Given the description of an element on the screen output the (x, y) to click on. 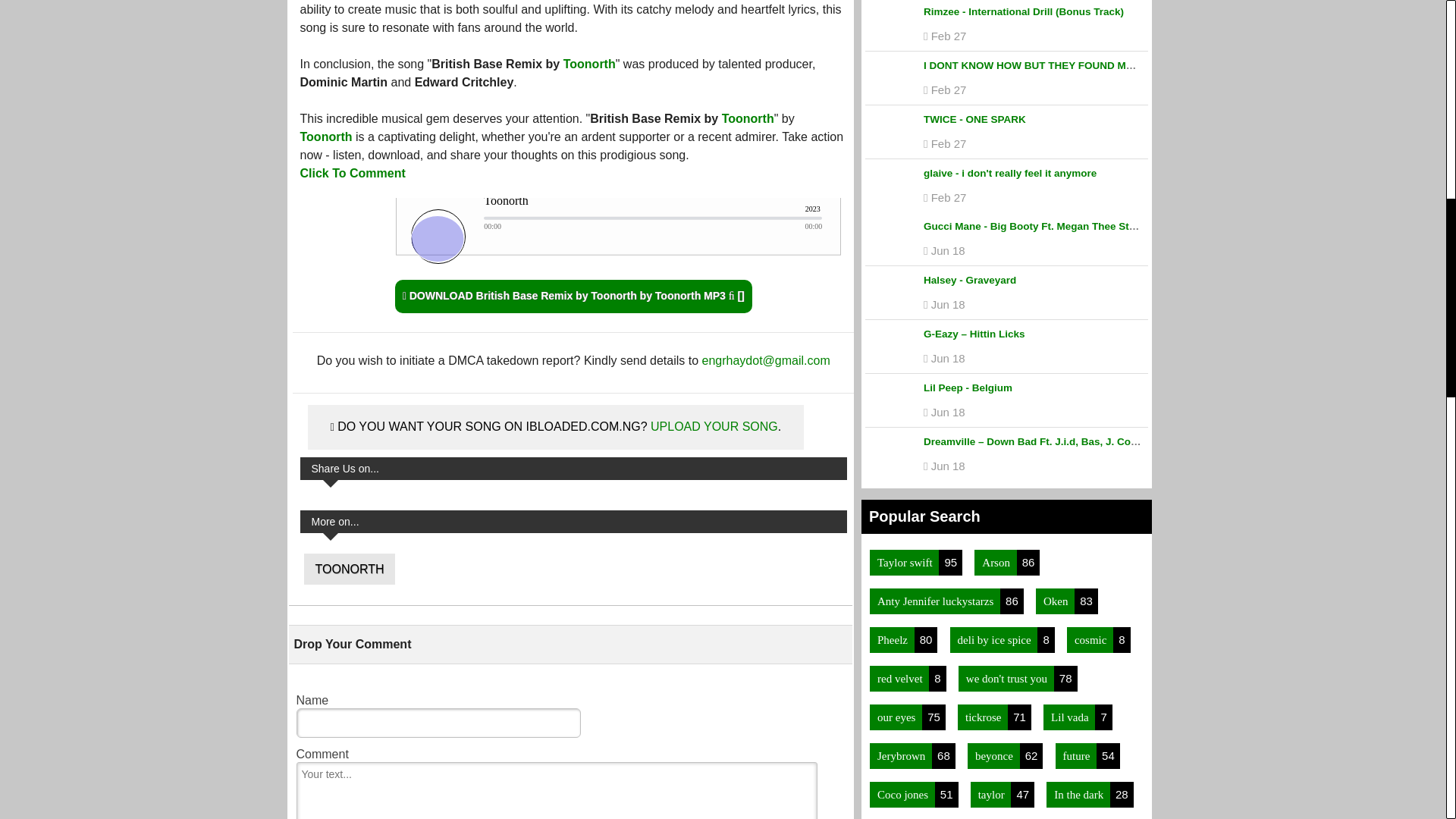
Toonorth (748, 118)
Toonorth (325, 136)
Toonorth (589, 63)
Music Player (573, 234)
